Given the description of an element on the screen output the (x, y) to click on. 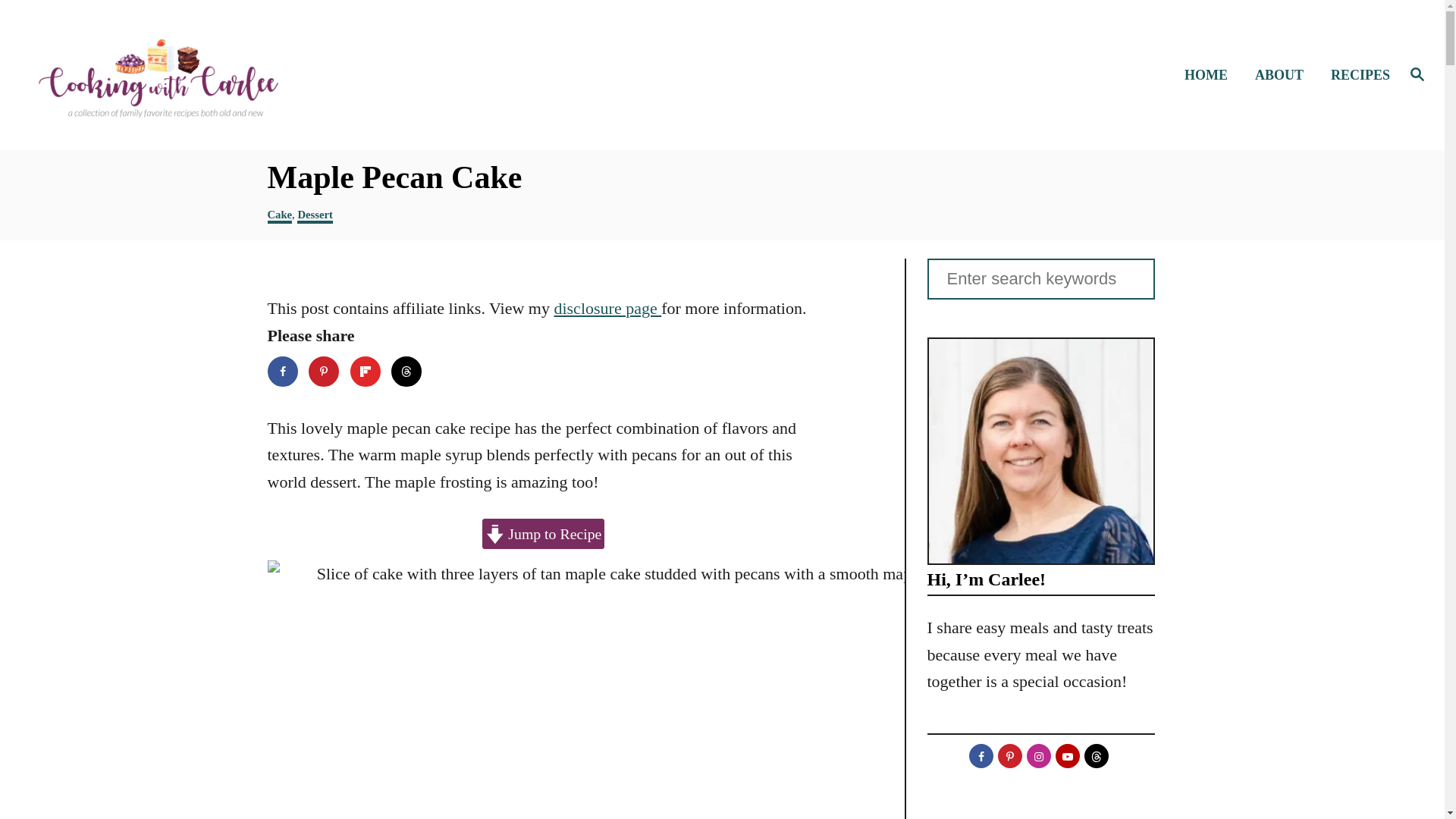
Cooking With Carlee (187, 74)
Share on Threads (406, 371)
Cake (279, 215)
Jump to Recipe (543, 533)
HOME (1210, 75)
Save to Pinterest (323, 371)
Share on Flipboard (365, 371)
ABOUT (1284, 75)
Magnifying Glass (1416, 74)
